Given the description of an element on the screen output the (x, y) to click on. 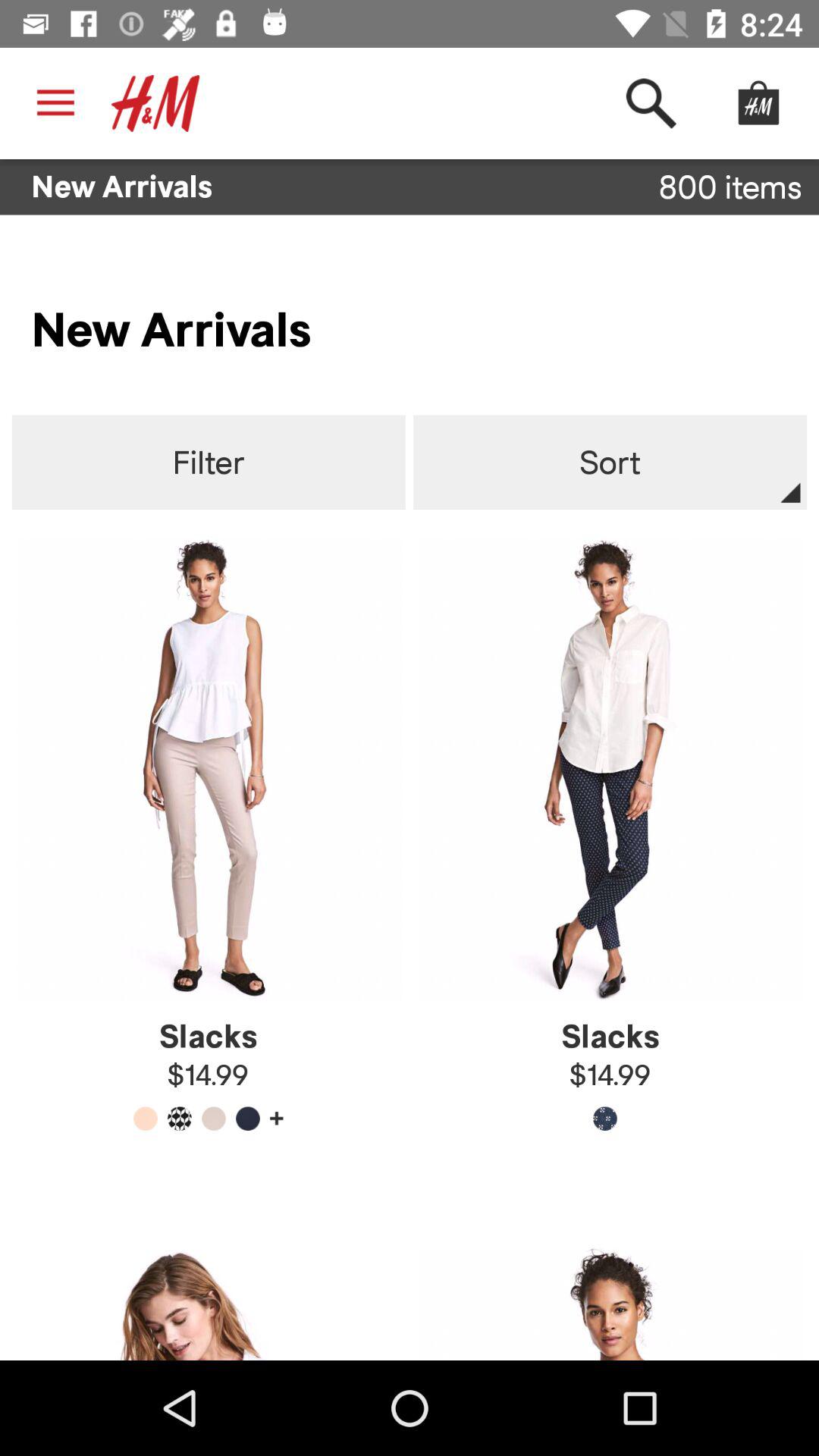
flip until filter icon (208, 462)
